Given the description of an element on the screen output the (x, y) to click on. 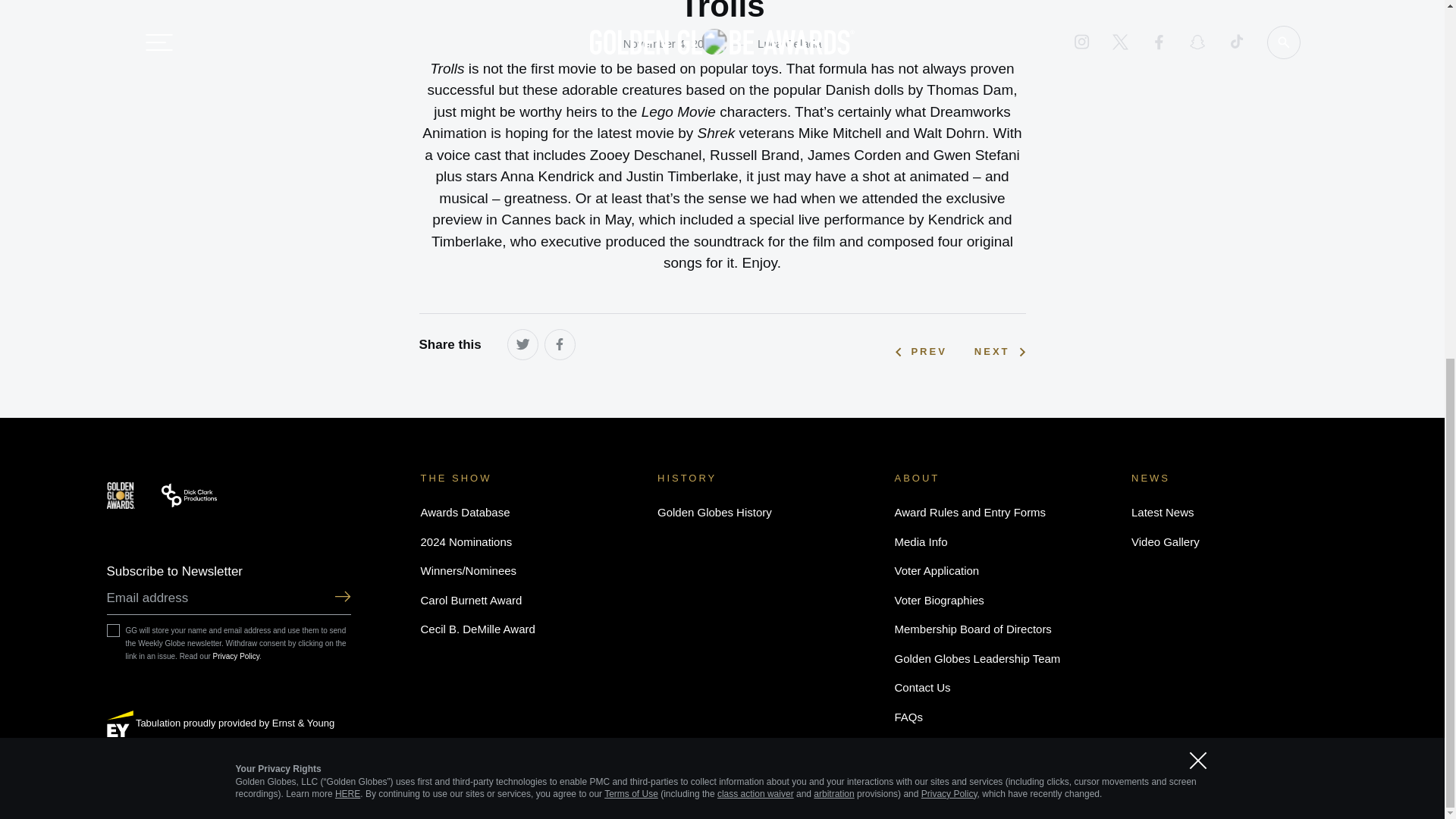
THE SHOW (456, 478)
Privacy Policy (236, 655)
PREV (920, 351)
Submit (341, 597)
NEXT (1000, 351)
